Given the description of an element on the screen output the (x, y) to click on. 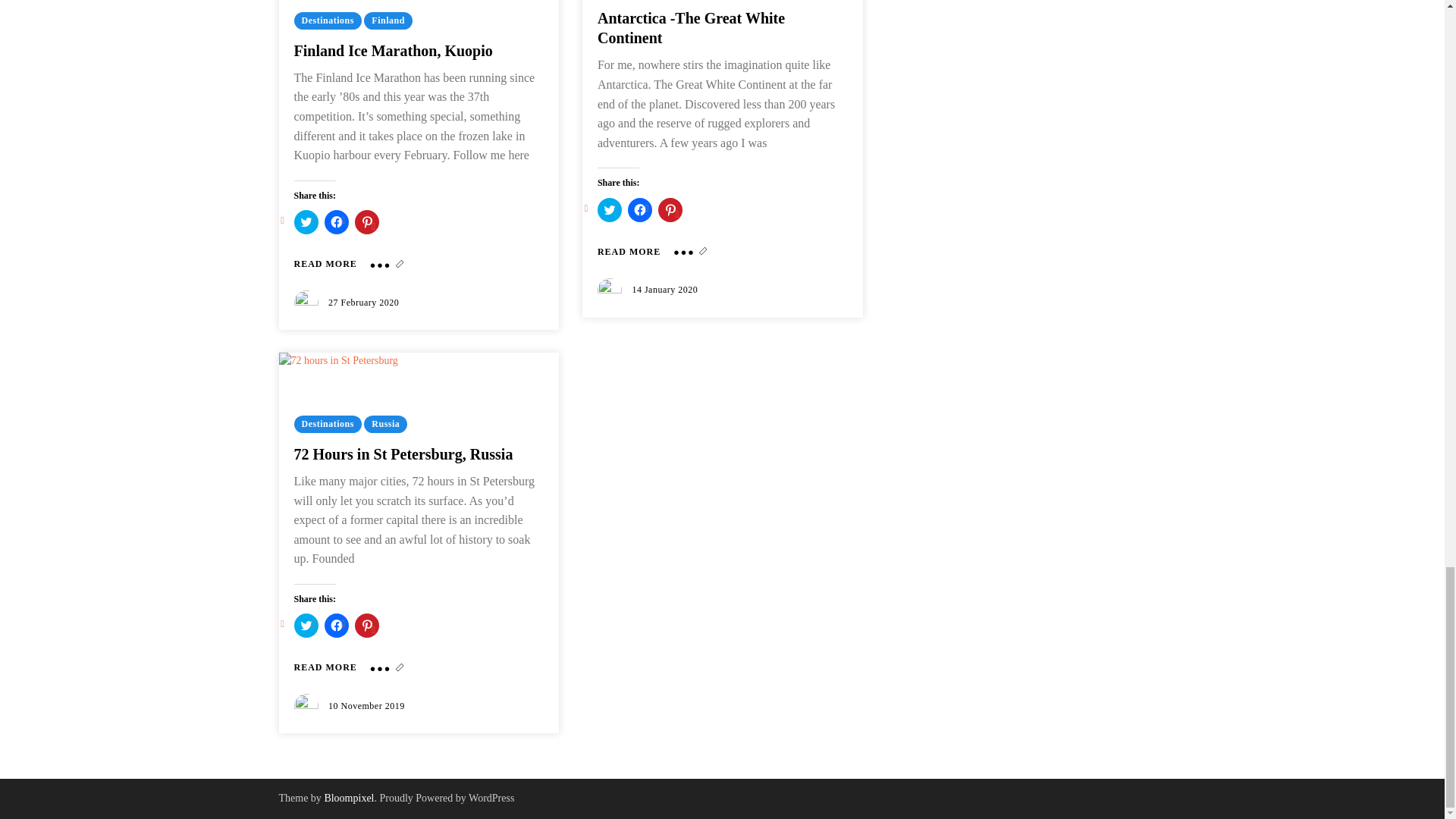
Finland Ice Marathon, Kuopio (393, 50)
Finland Ice Marathon, Kuopio (325, 264)
View all posts in Finland (388, 20)
Click to share on Pinterest (366, 221)
View all posts in Destinations (327, 20)
Click to share on Facebook (336, 221)
Click to share on Twitter (306, 221)
